Given the description of an element on the screen output the (x, y) to click on. 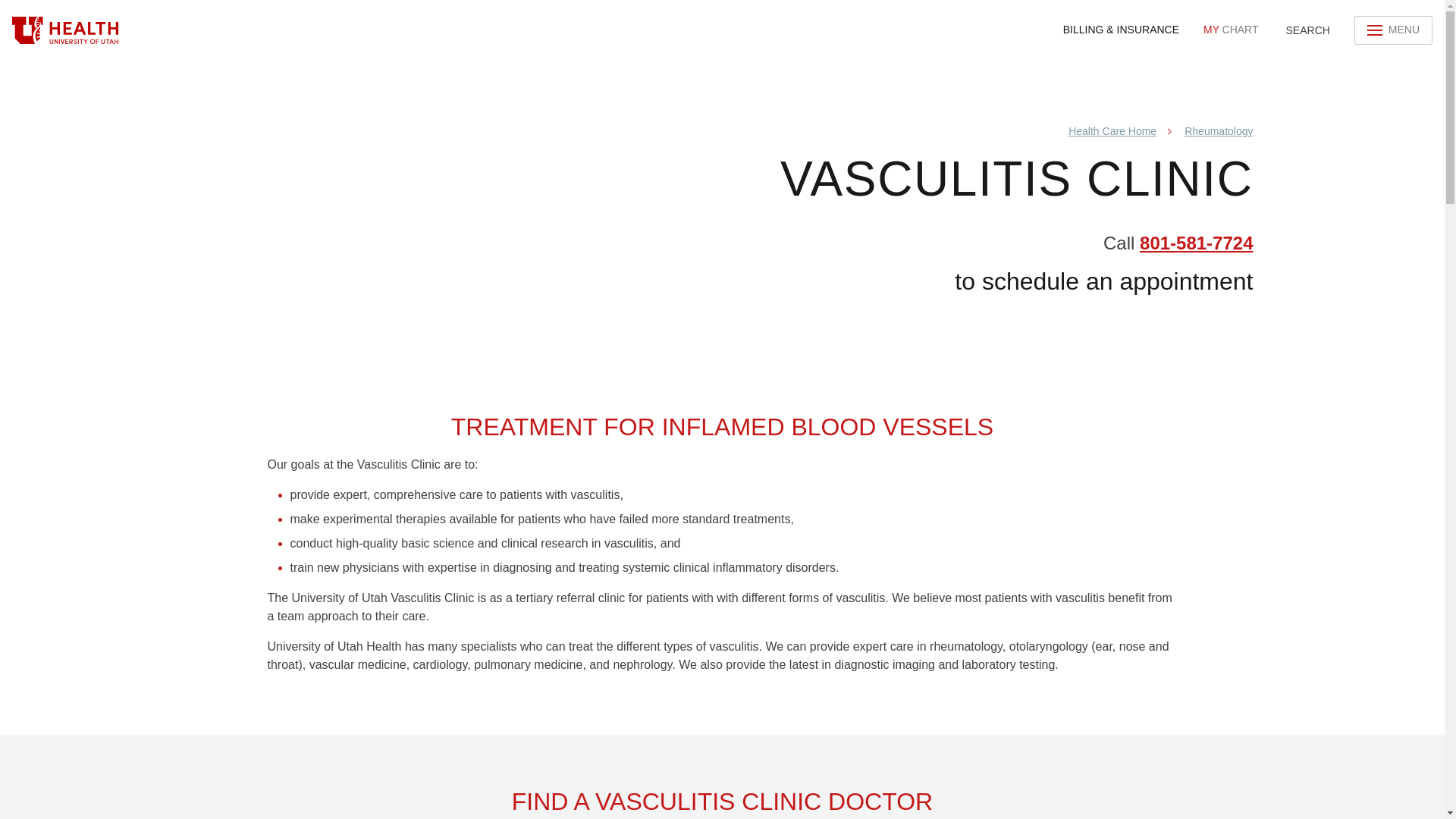
801-581-7724 (1196, 243)
Health Care Home (1112, 131)
MENU (1393, 30)
SEARCH (1306, 30)
Rheumatology (1218, 131)
University of Utah Health logo (1230, 30)
